Given the description of an element on the screen output the (x, y) to click on. 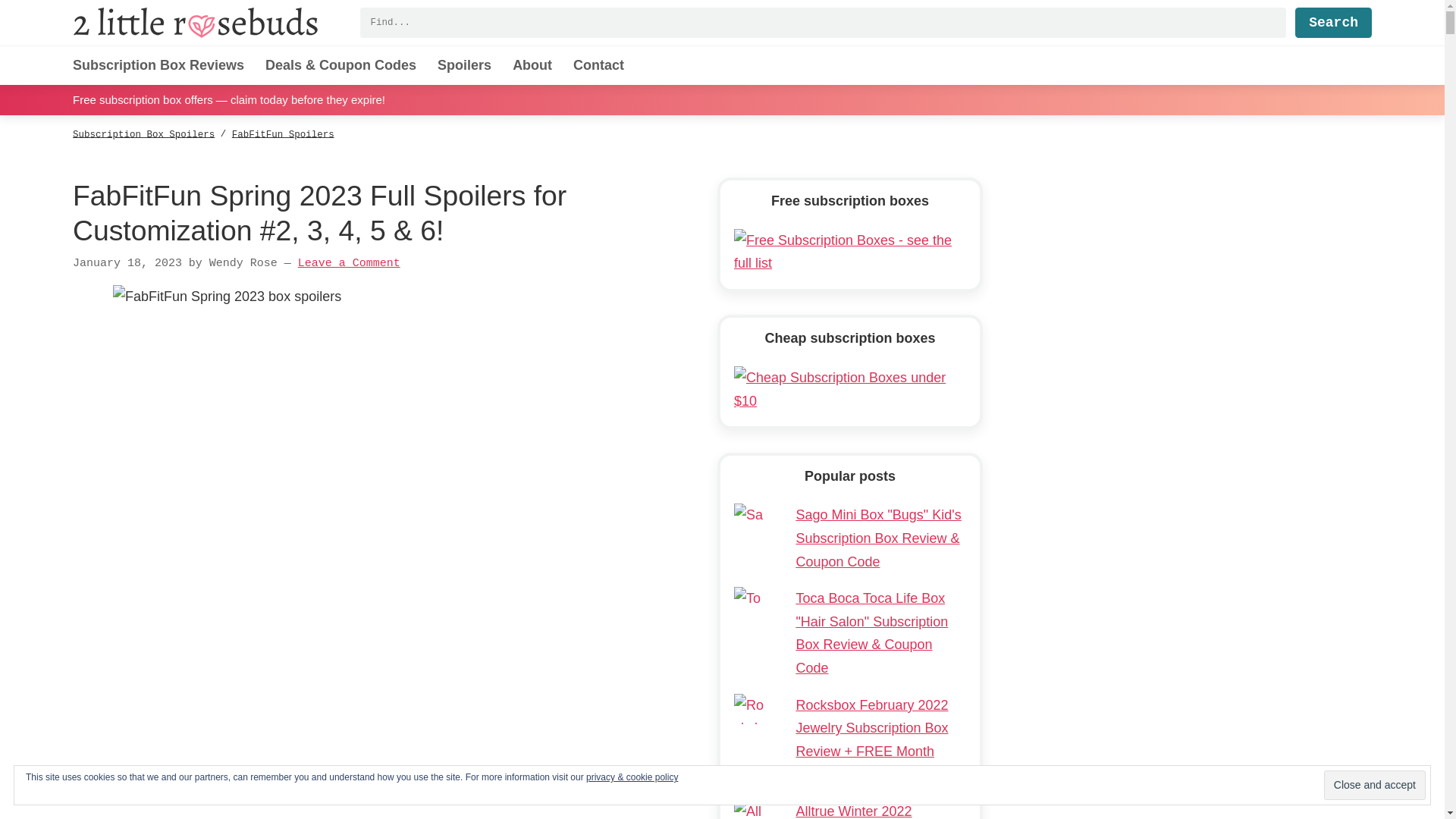
Subscription Box Reviews (158, 65)
Close and accept (1374, 785)
Contact (598, 65)
Search (1333, 22)
Search (1333, 22)
Subscription Box Spoilers (143, 134)
About (531, 65)
Spoilers (465, 65)
Leave a Comment (349, 263)
